Given the description of an element on the screen output the (x, y) to click on. 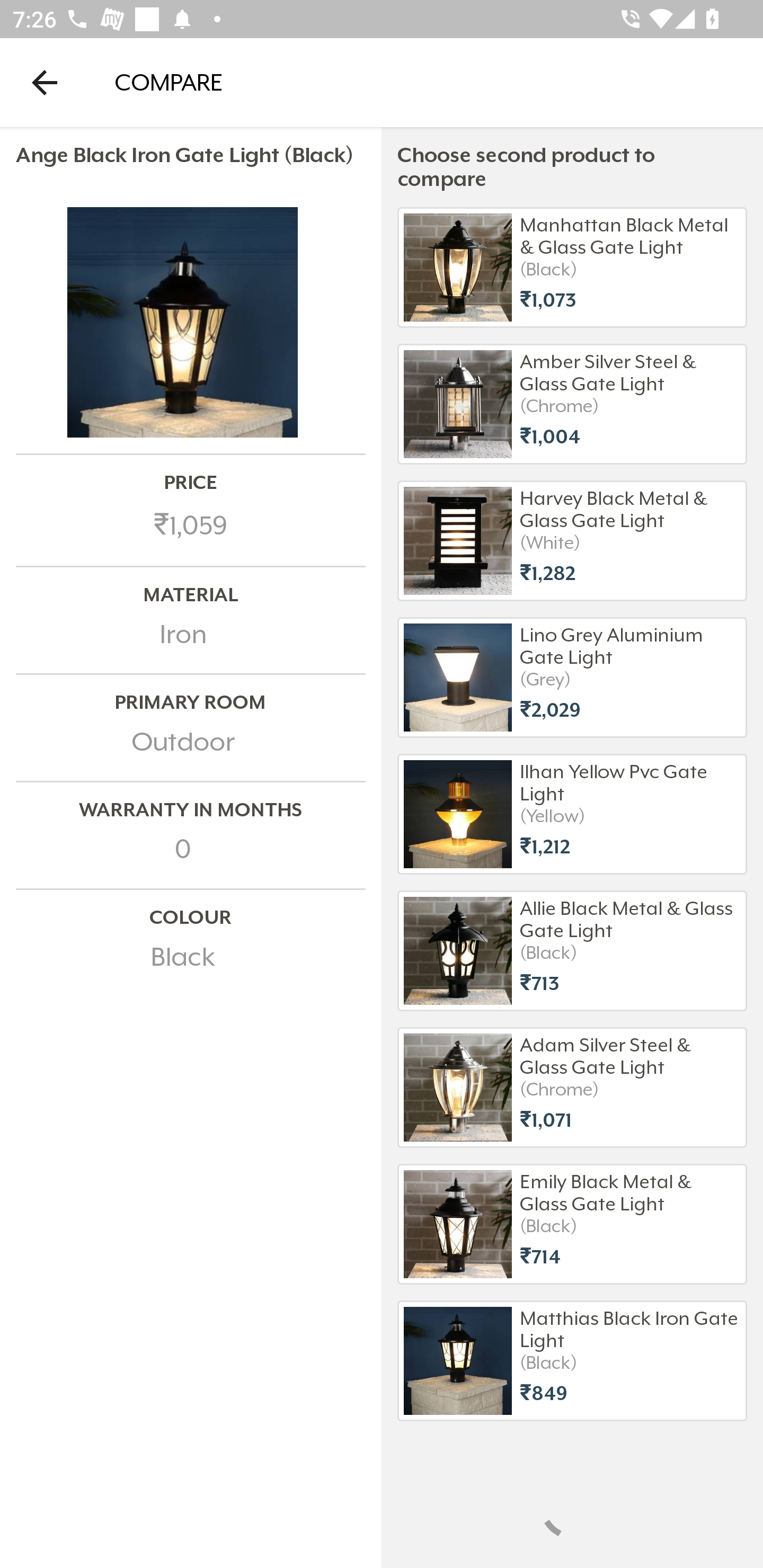
Navigate up (44, 82)
Lino Grey Aluminium Gate Light (Grey) ₹2,029 (571, 677)
Ilhan Yellow Pvc Gate Light (Yellow) ₹1,212 (571, 814)
Allie Black Metal & Glass Gate Light (Black) ₹713 (571, 950)
Emily Black Metal & Glass Gate Light (Black) ₹714 (571, 1223)
Matthias Black Iron Gate Light (Black) ₹849 (571, 1359)
